Given the description of an element on the screen output the (x, y) to click on. 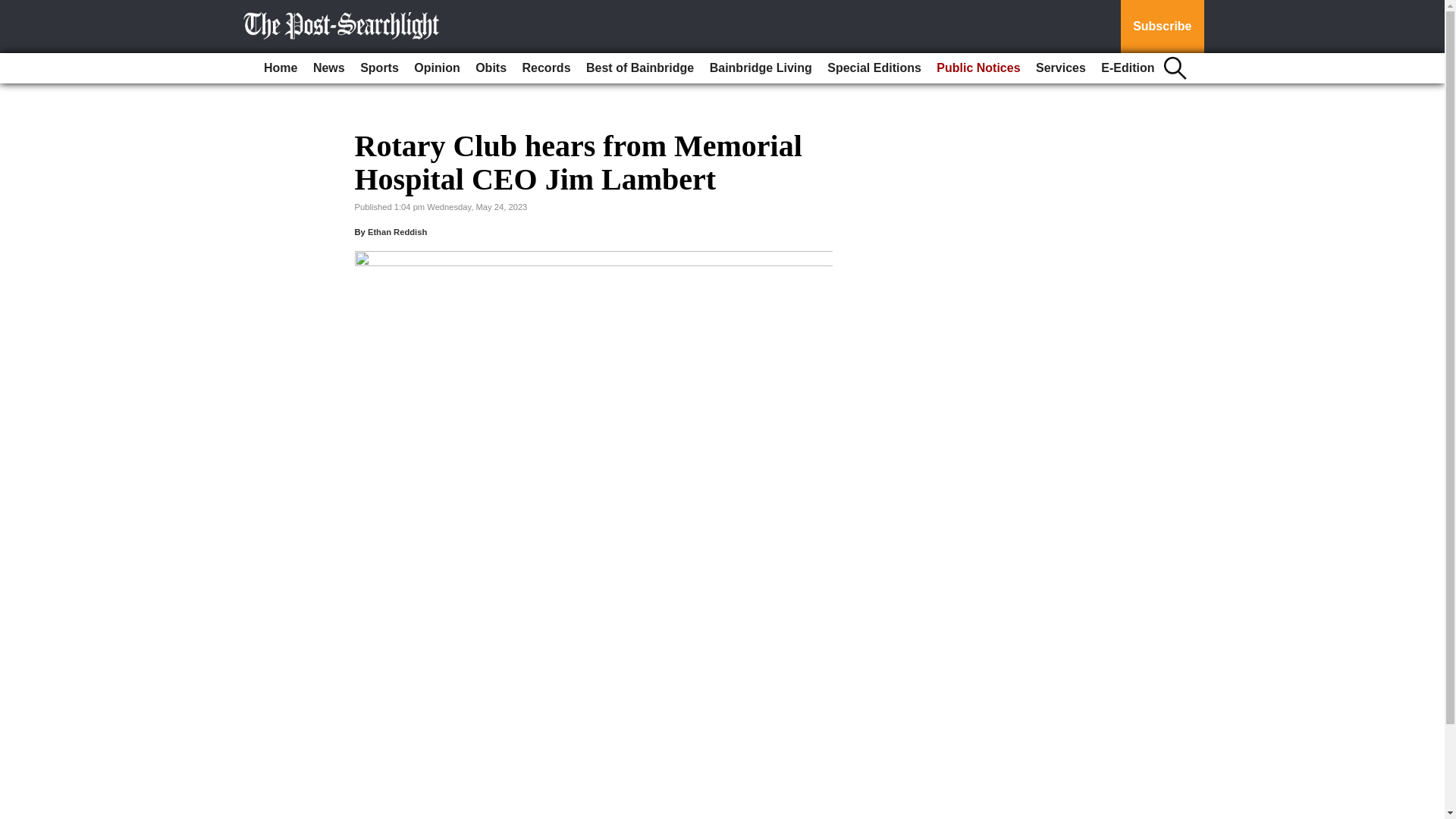
Best of Bainbridge (639, 68)
Ethan Reddish (397, 231)
Services (1060, 68)
Home (279, 68)
Records (546, 68)
Go (13, 9)
Sports (378, 68)
Bainbridge Living (760, 68)
Public Notices (978, 68)
Subscribe (1162, 26)
